Given the description of an element on the screen output the (x, y) to click on. 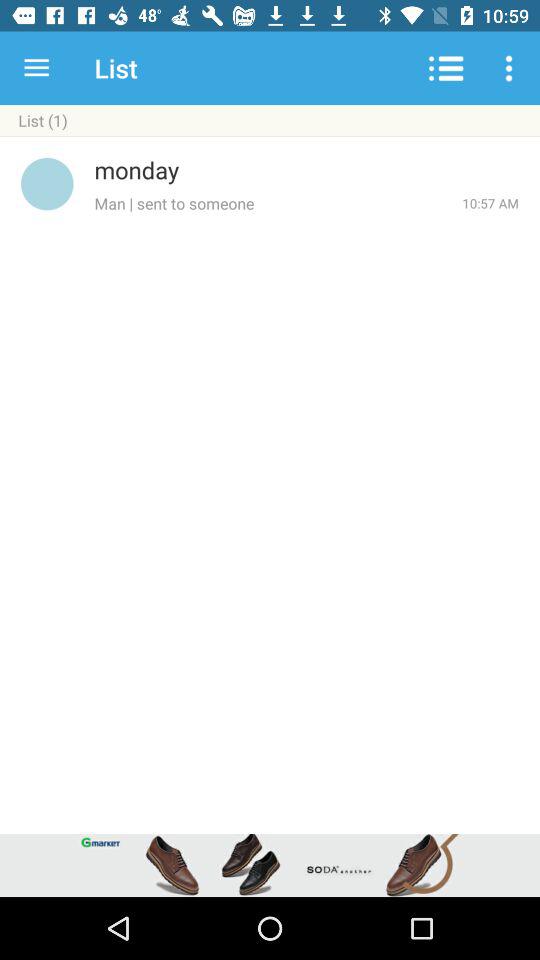
launch the item to the left of the 10:57 am icon (278, 203)
